Given the description of an element on the screen output the (x, y) to click on. 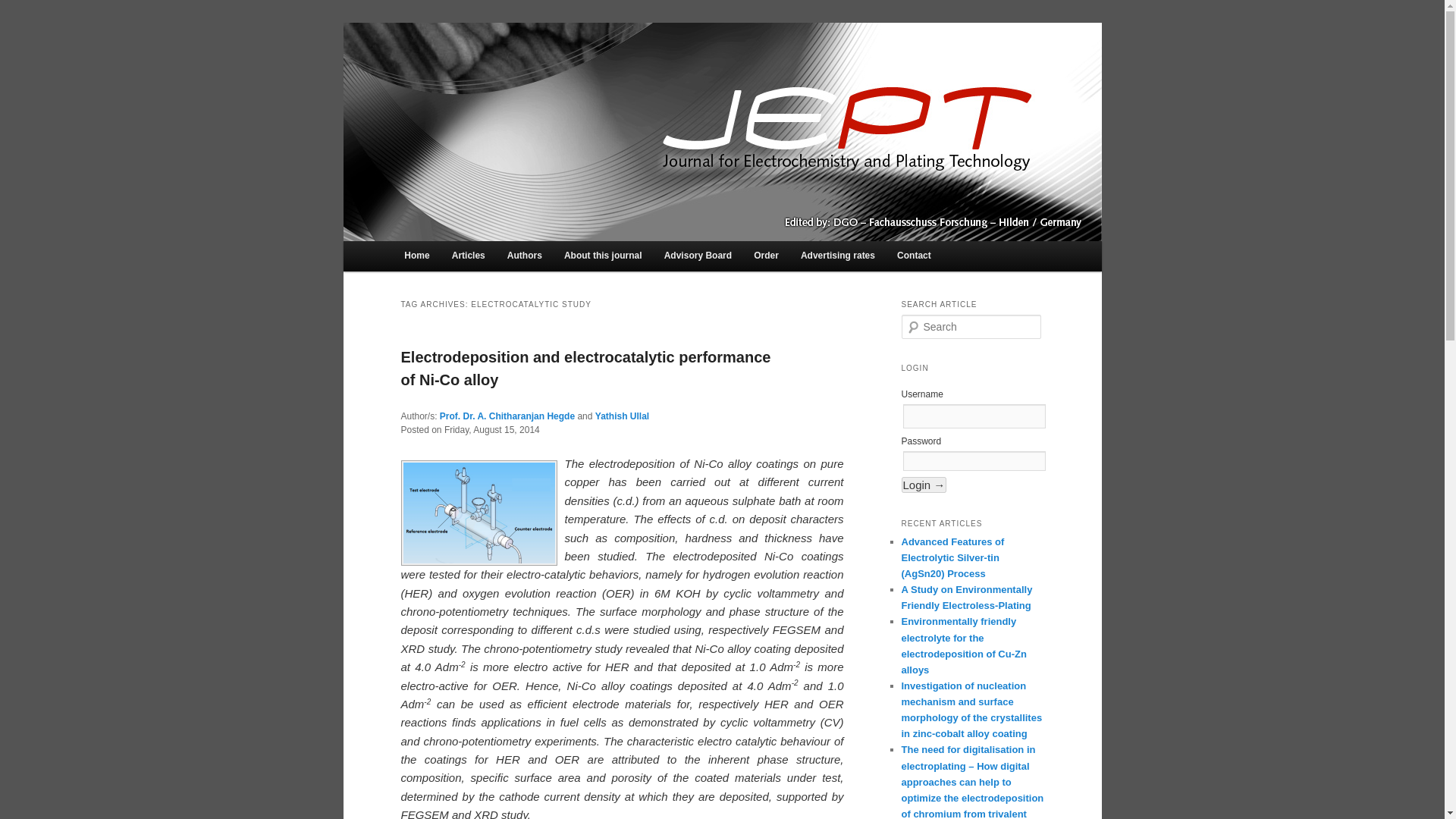
Advertising rates (837, 255)
Skip to secondary content (479, 259)
Posts by Prof. Dr. A. Chitharanjan Hegde (507, 416)
Contact (914, 255)
Articles (468, 255)
Skip to secondary content (479, 259)
Order (766, 255)
Search (16, 10)
About this journal (602, 255)
Skip to primary content (472, 259)
A Study on Environmentally Friendly Electroless-Plating (966, 596)
Advisory Board (697, 255)
Home (417, 255)
